Given the description of an element on the screen output the (x, y) to click on. 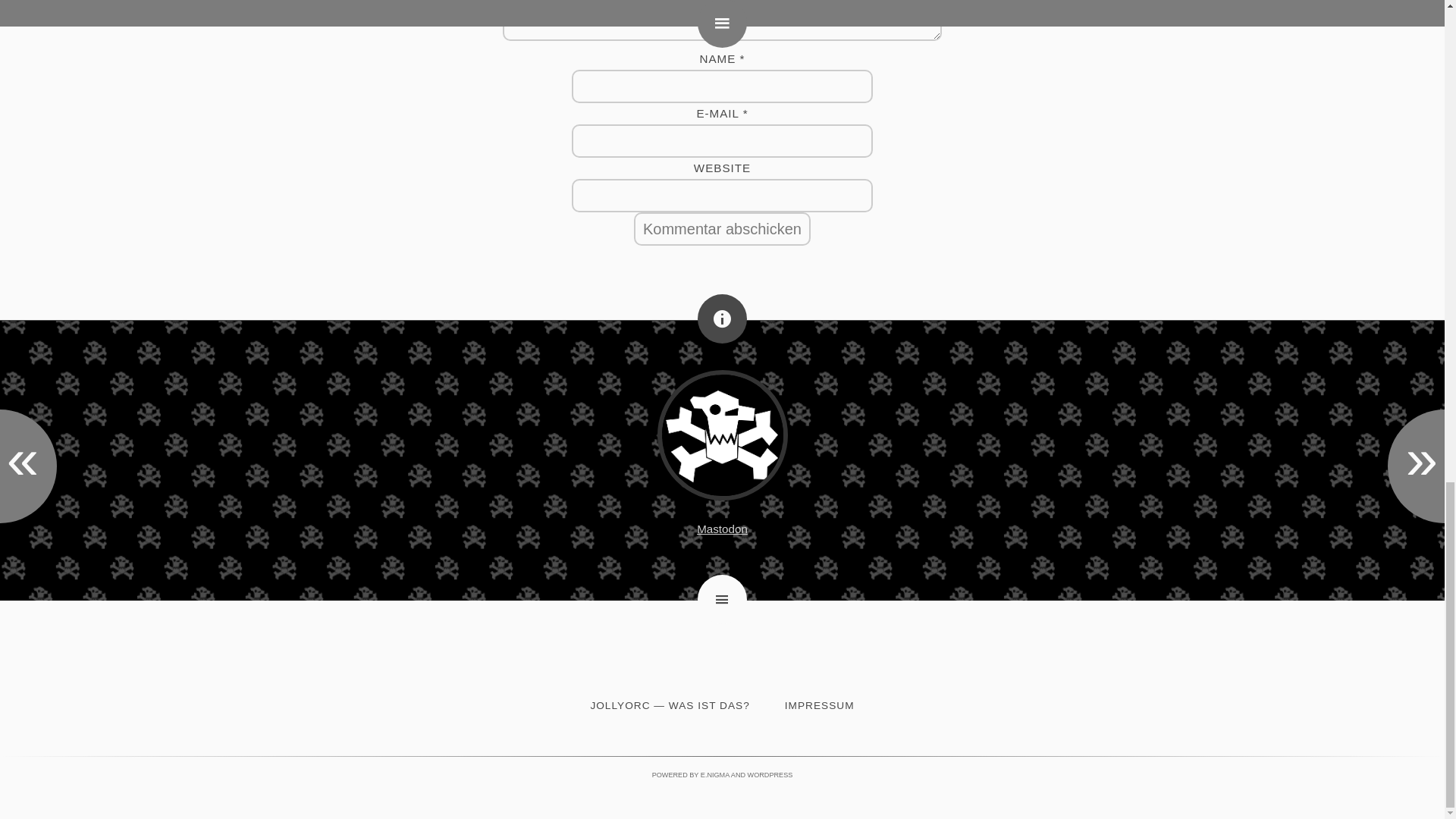
Orkpiraten (721, 435)
Kommentar abschicken (721, 228)
